Given the description of an element on the screen output the (x, y) to click on. 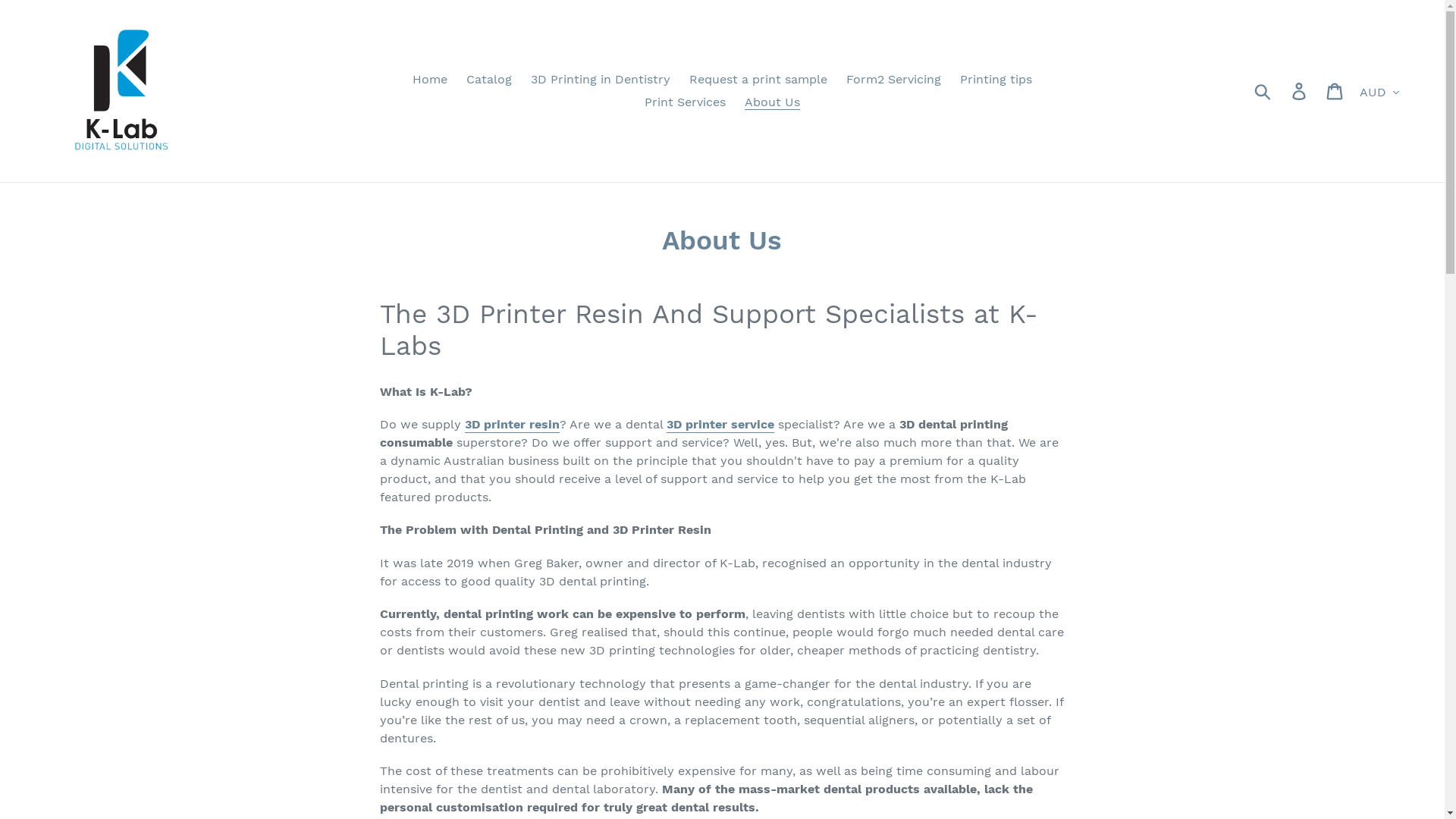
Catalog Element type: text (488, 79)
Log in Element type: text (1299, 91)
3D printer resin Element type: text (511, 425)
Request a print sample Element type: text (757, 79)
Print Services Element type: text (685, 102)
Submit Element type: text (1263, 90)
Home Element type: text (429, 79)
Cart Element type: text (1335, 91)
About Us Element type: text (772, 102)
3D Printing in Dentistry Element type: text (600, 79)
Form2 Servicing Element type: text (893, 79)
3D printer service Element type: text (720, 425)
Printing tips Element type: text (995, 79)
